Given the description of an element on the screen output the (x, y) to click on. 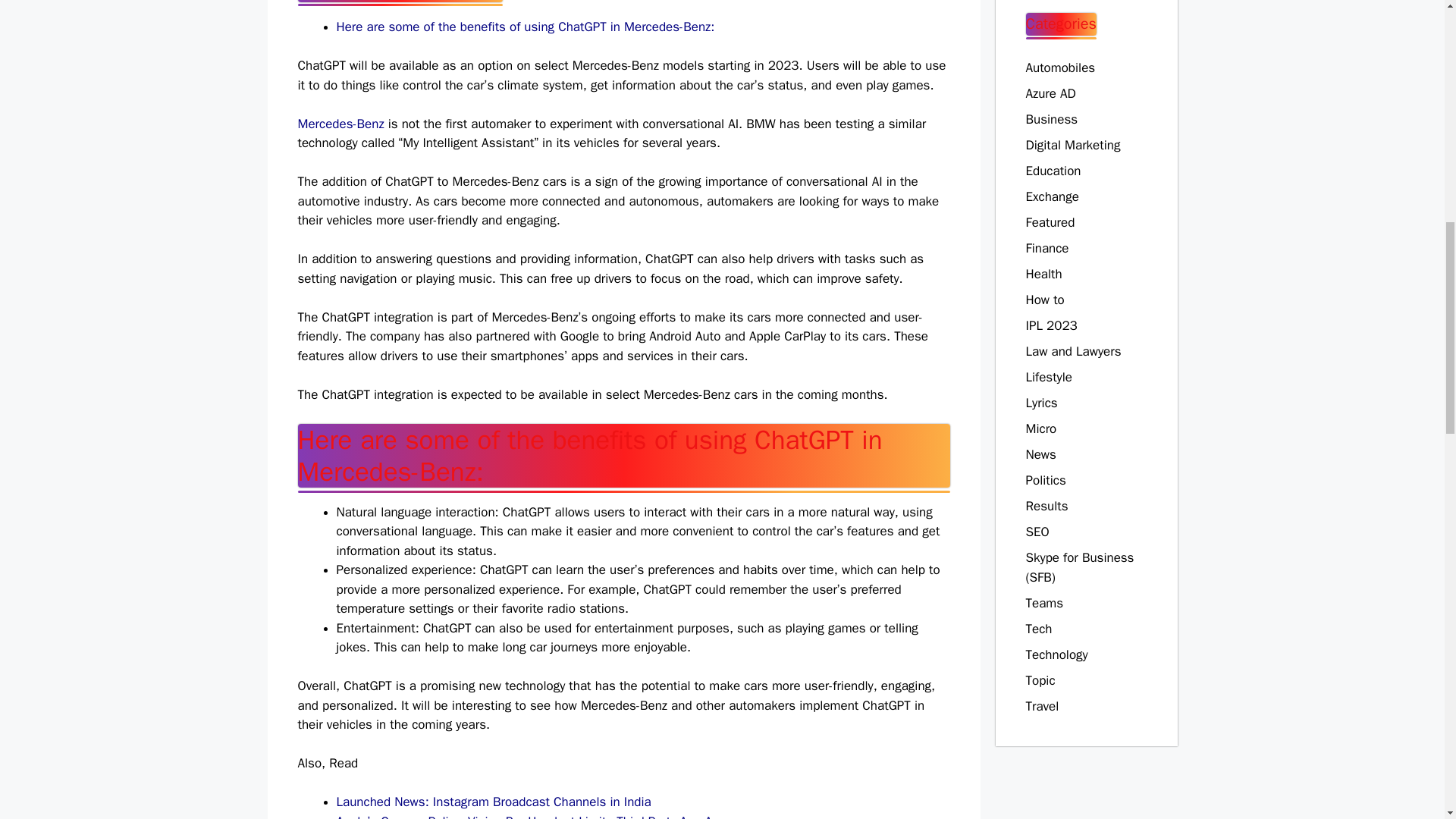
Mercedes-Benz (340, 123)
Launched News: Instagram Broadcast Channels in India (493, 801)
